Given the description of an element on the screen output the (x, y) to click on. 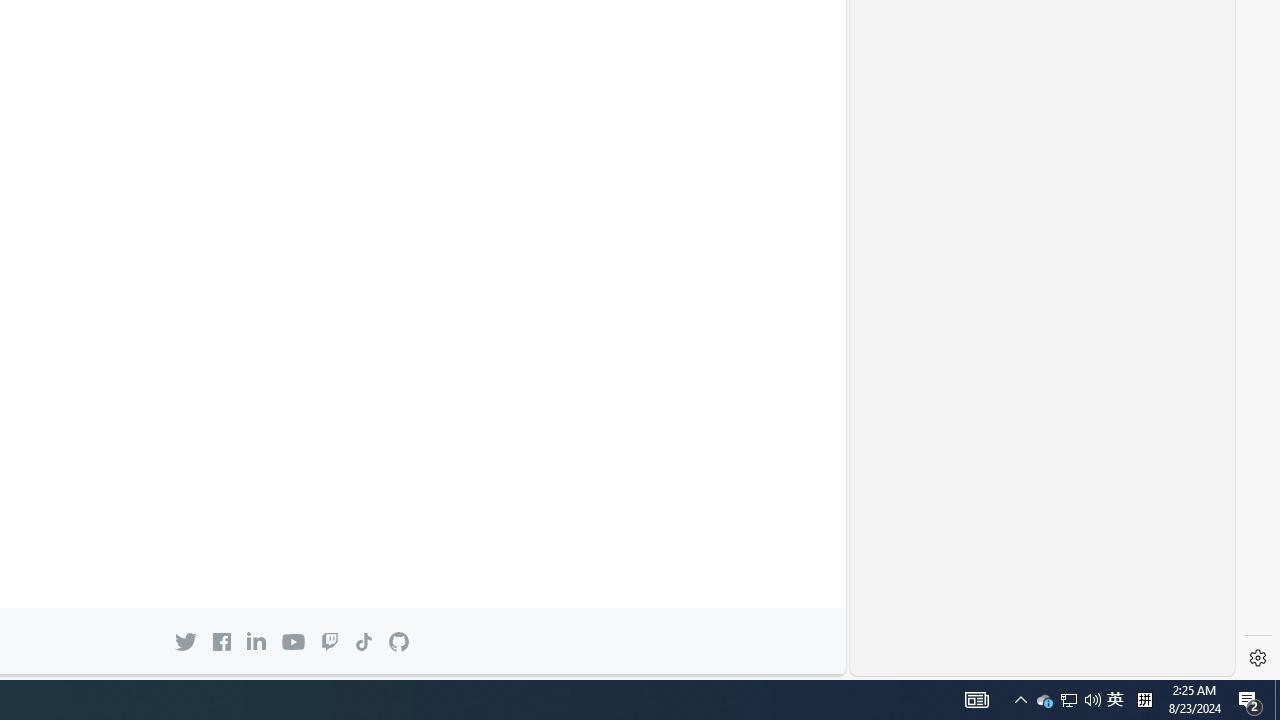
Facebook icon (221, 641)
GitHub on Twitch (330, 641)
GitHub on YouTube (292, 642)
GitHub on LinkedIn (256, 641)
GitHub mark (399, 642)
TikTok icon (363, 641)
Twitch icon (330, 641)
Twitch icon GitHub on Twitch (330, 641)
Back to GitHub.com (399, 642)
GitHub on TikTok (363, 641)
Class: mr-3 (221, 641)
GitHub mark Back to GitHub.com (399, 642)
Linkedin icon GitHub on LinkedIn (256, 641)
YouTube icon GitHub on YouTube (292, 642)
